Given the description of an element on the screen output the (x, y) to click on. 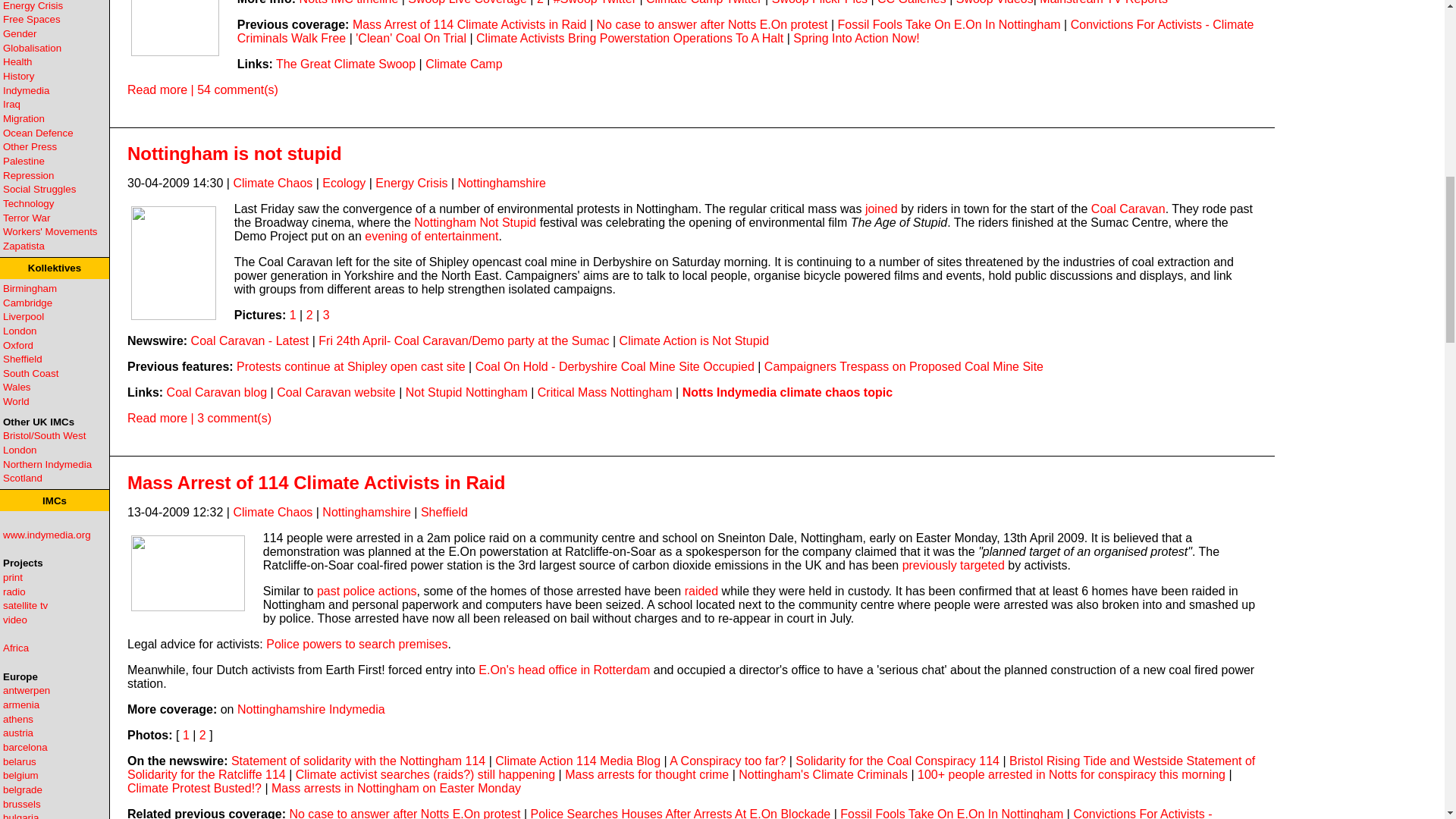
Free Spaces (31, 19)
Energy Crisis (32, 5)
Gender (19, 33)
Health (17, 61)
Palestine (23, 161)
Autonomous and free spaces news. (31, 19)
Migration (23, 118)
Indymedia (25, 90)
Sexuality and gender news. (19, 33)
